Given the description of an element on the screen output the (x, y) to click on. 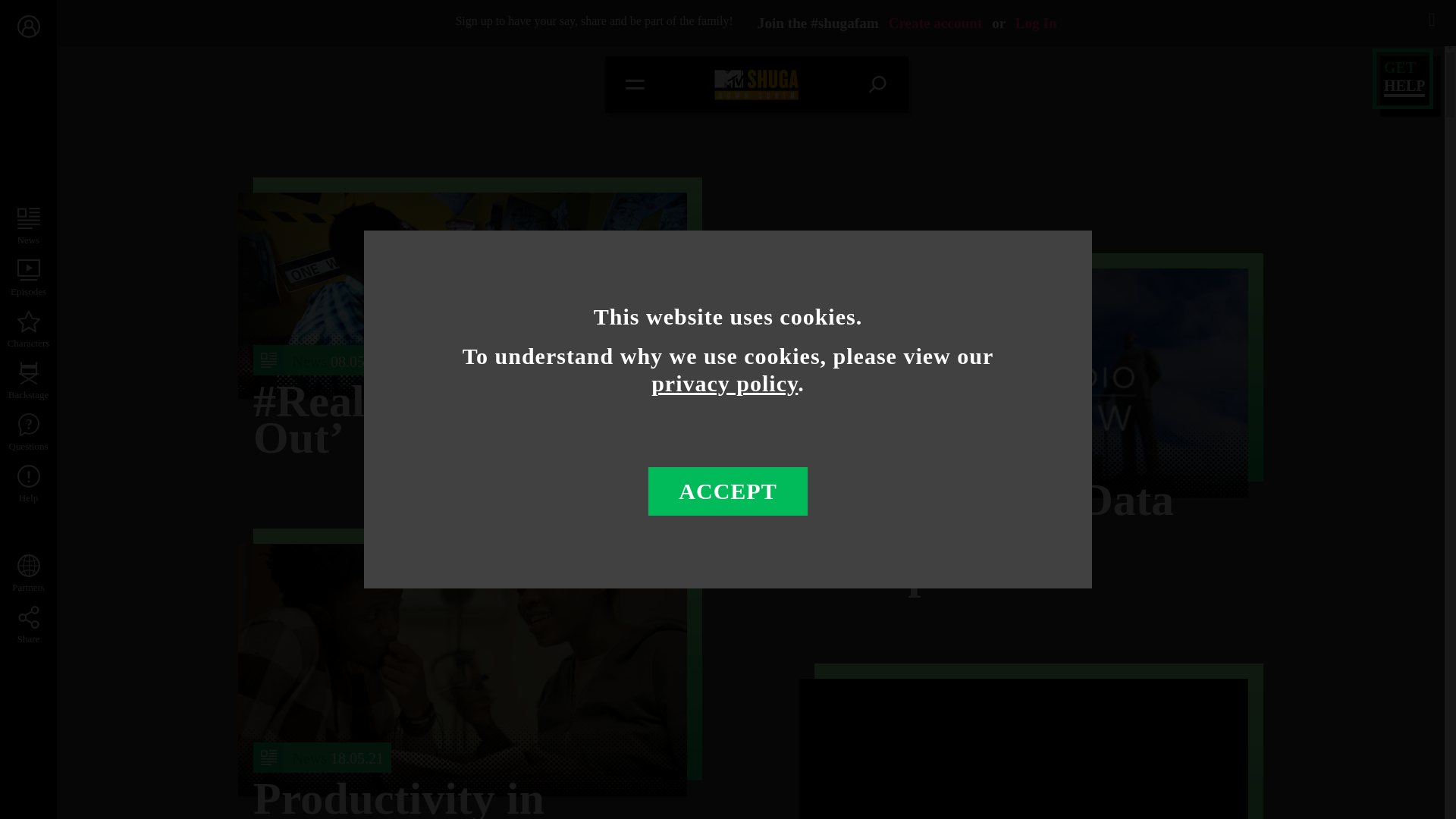
Log In (1035, 23)
Create account (935, 23)
